Given the description of an element on the screen output the (x, y) to click on. 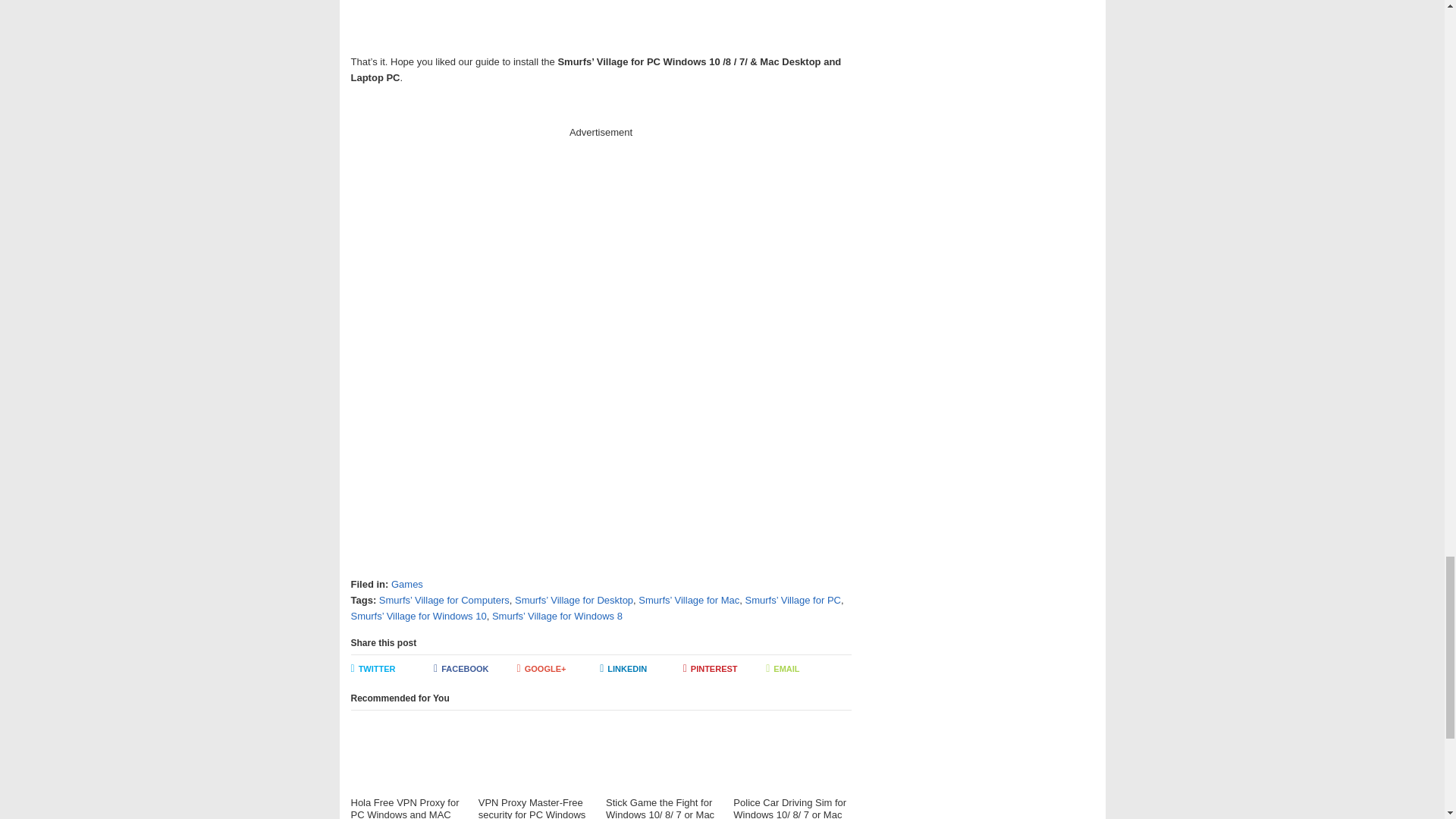
Games (407, 583)
LINKEDIN (640, 669)
TWITTER (391, 669)
Advertisement (600, 23)
EMAIL (806, 669)
FACEBOOK (474, 669)
Advertisement (600, 202)
Hola Free VPN Proxy for PC Windows and MAC Free Download (408, 770)
